Given the description of an element on the screen output the (x, y) to click on. 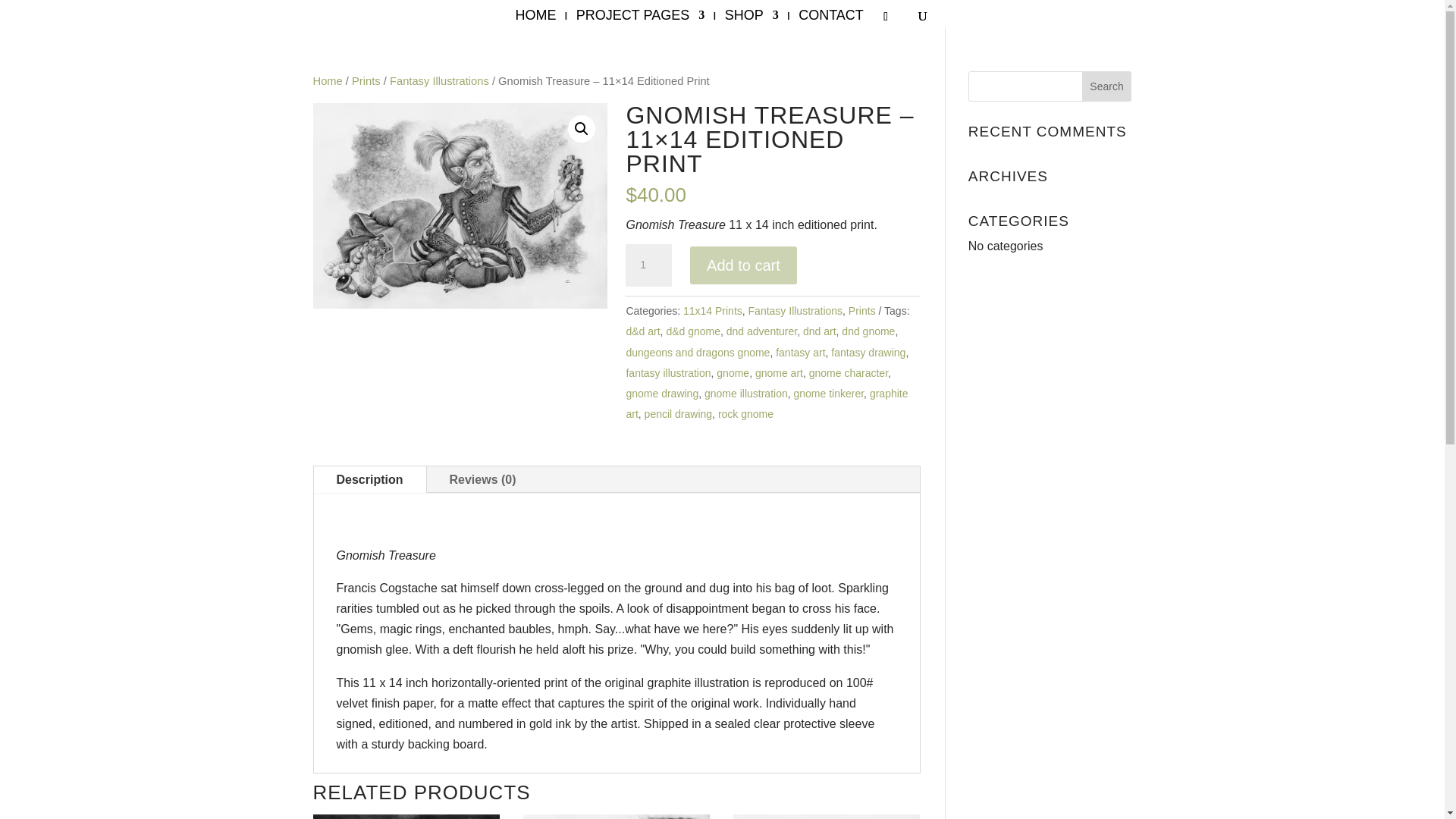
11x14 Prints (712, 310)
1 (648, 265)
Prints (862, 310)
Fantasy Illustrations (795, 310)
Fantasy Illustrations (439, 80)
Home (327, 80)
HOME (535, 18)
dnd adventurer (761, 331)
SHOP (751, 18)
Add to cart (743, 265)
Prints (366, 80)
Gnomish Treasure - Print (460, 205)
Search (1106, 86)
CONTACT (830, 18)
PROJECT PAGES (640, 18)
